Given the description of an element on the screen output the (x, y) to click on. 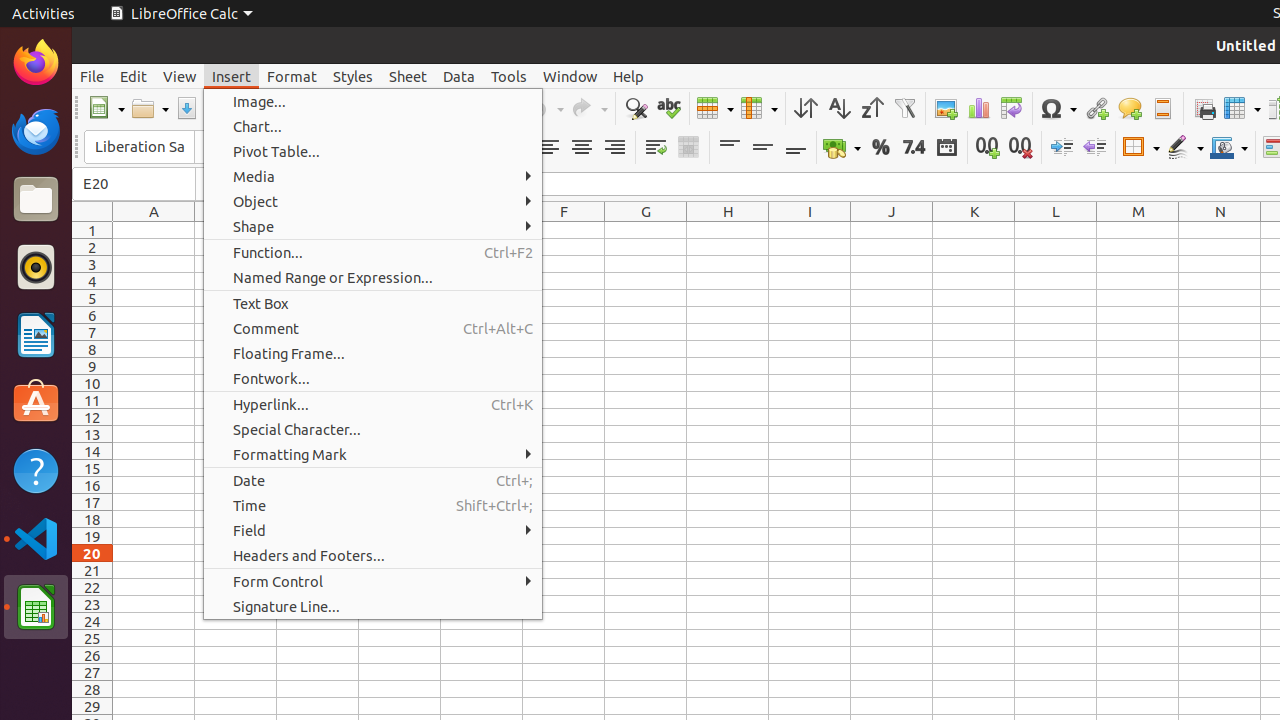
Center Vertically Element type: push-button (762, 147)
Object Element type: menu (373, 201)
LibreOffice Calc Element type: push-button (36, 607)
Freeze Rows and Columns Element type: push-button (1242, 108)
Pivot Table... Element type: menu-item (373, 151)
